Given the description of an element on the screen output the (x, y) to click on. 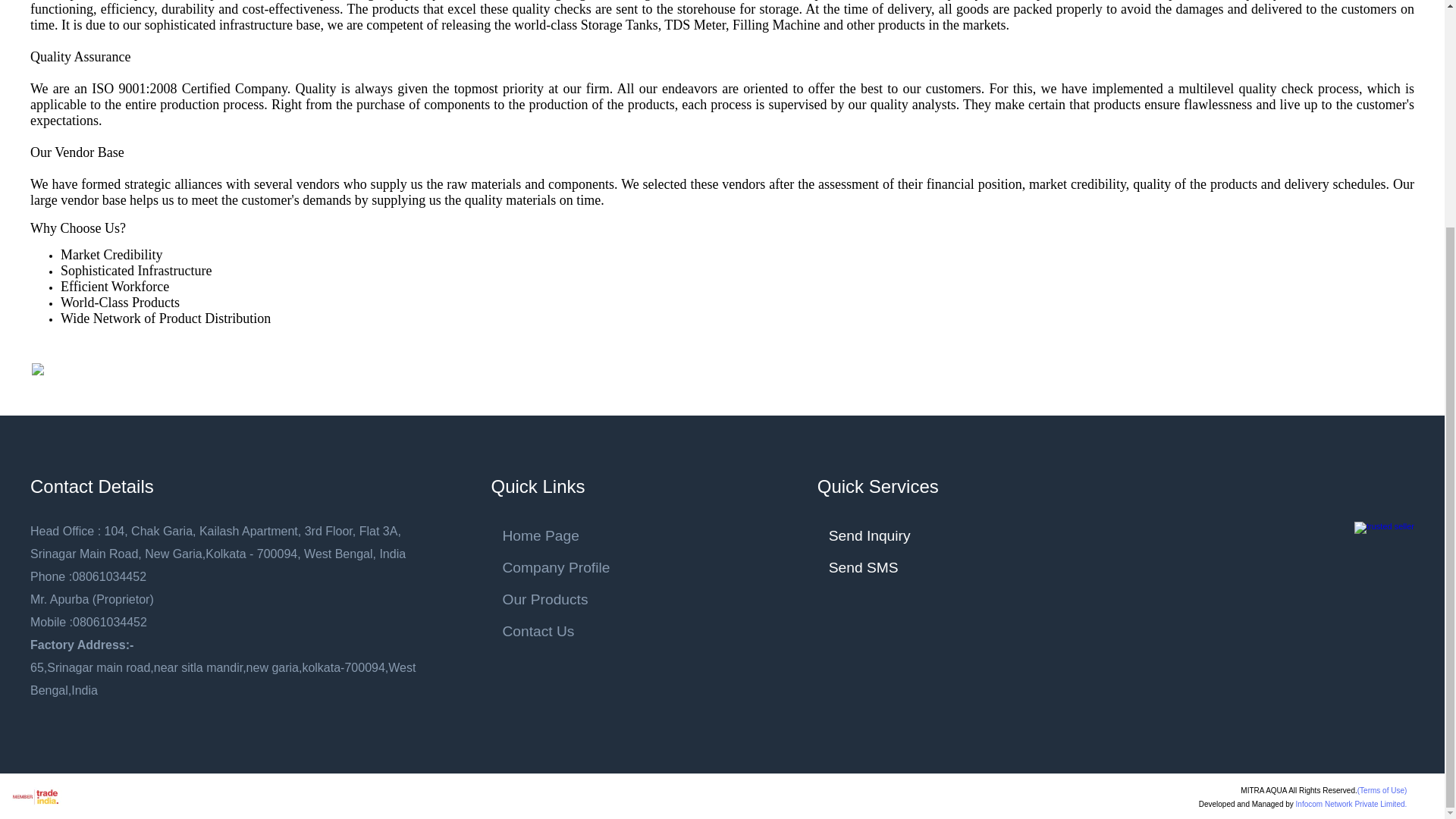
Send Inquiry (869, 535)
Company Profile (613, 567)
Send SMS (863, 567)
Contact Us (613, 631)
Our Products (613, 599)
Home Page (613, 535)
Infocom Network Private Limited. (1351, 804)
